Given the description of an element on the screen output the (x, y) to click on. 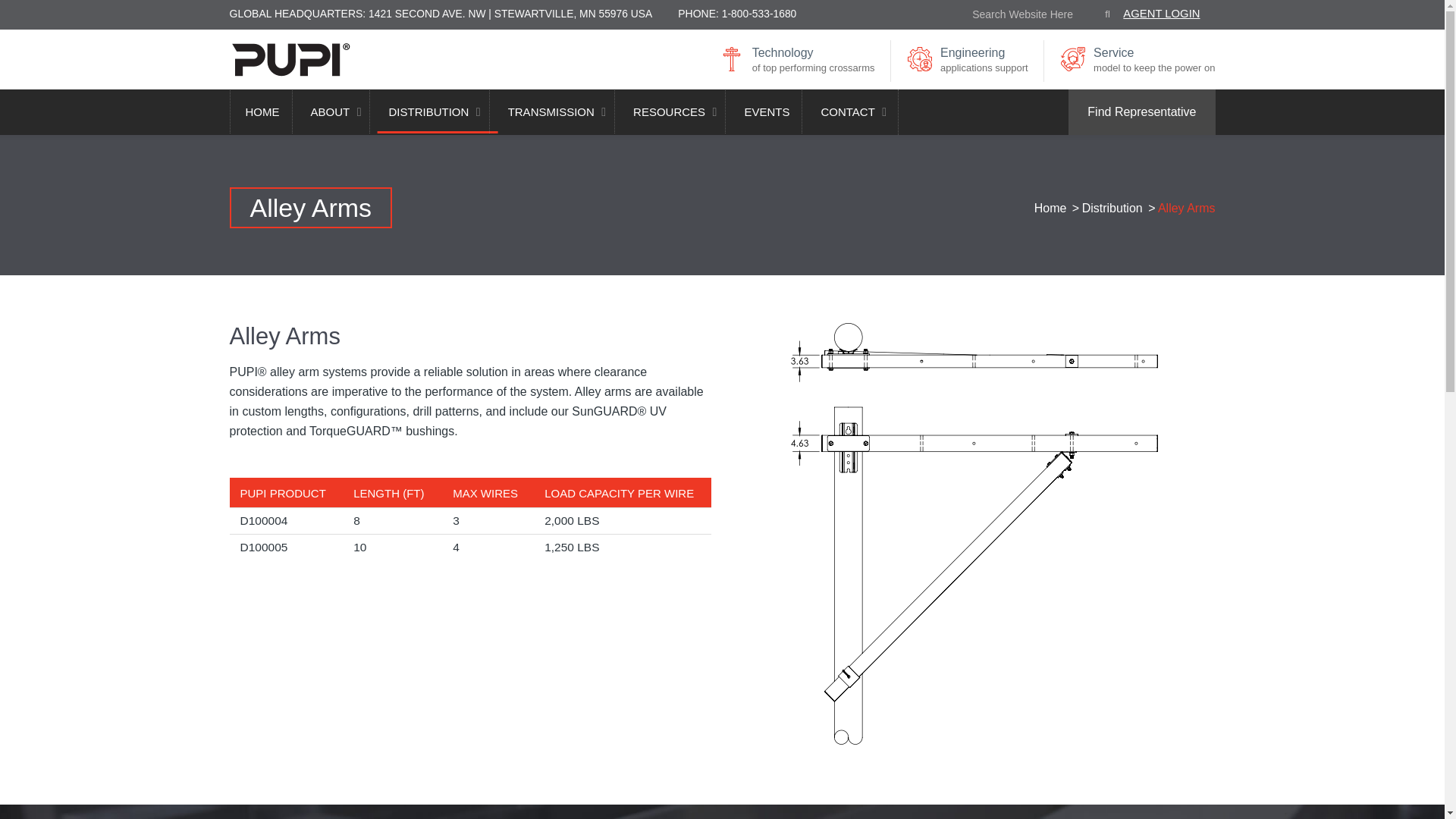
DISTRIBUTION (427, 112)
HOME (262, 112)
Service (1153, 53)
AGENT LOGIN (1160, 13)
1-800-533-1680 (759, 13)
TRANSMISSION (551, 112)
Engineering (983, 53)
Technology (813, 53)
ABOUT (330, 112)
